Given the description of an element on the screen output the (x, y) to click on. 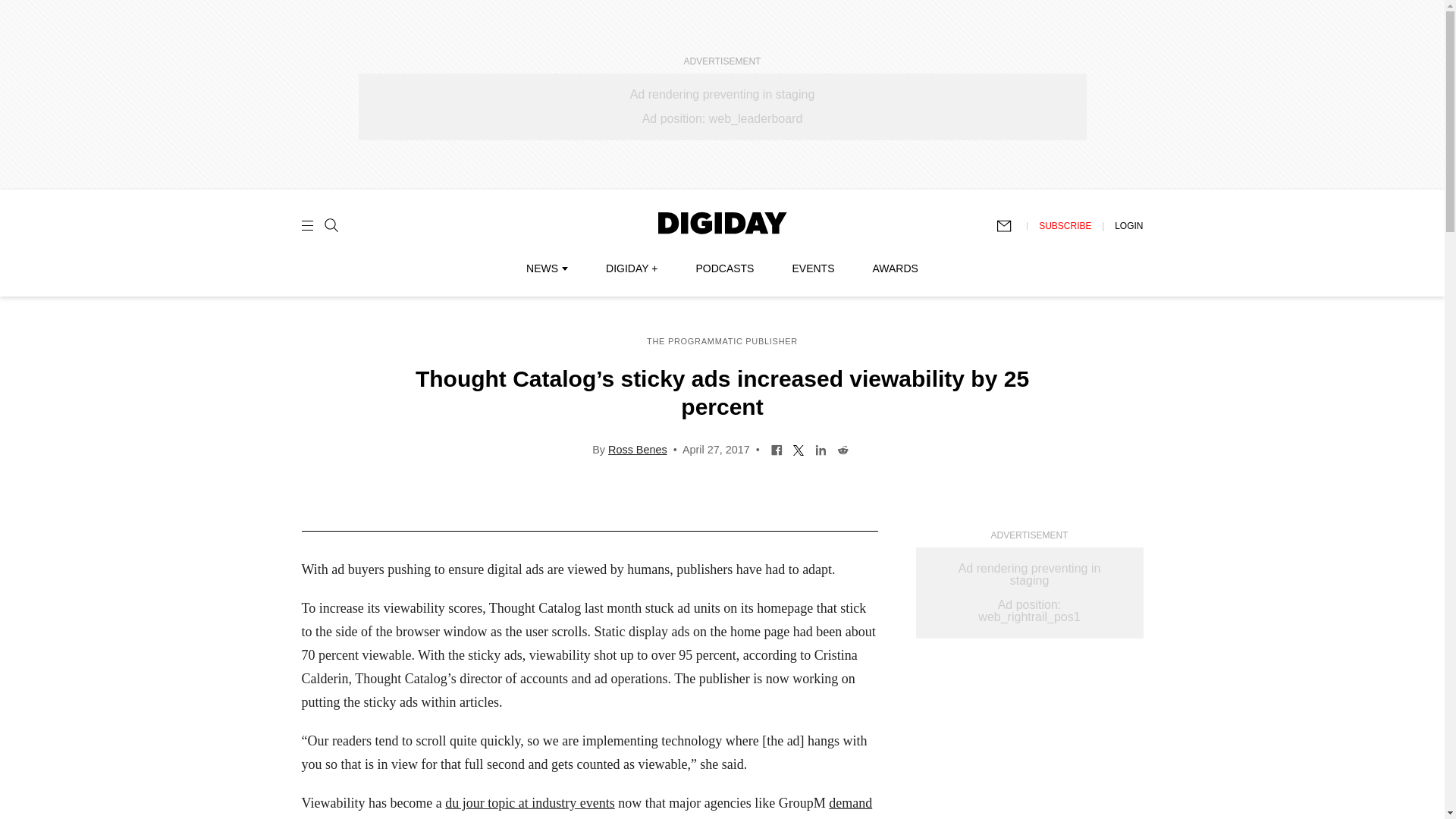
Share on Reddit (841, 449)
Share on LinkedIn (820, 449)
Share on Facebook (776, 449)
EVENTS (813, 267)
Share on Twitter (798, 449)
NEWS (546, 267)
AWARDS (894, 267)
SUBSCRIBE (1064, 225)
LOGIN (1128, 225)
PODCASTS (725, 267)
Subscribe (1010, 225)
